Given the description of an element on the screen output the (x, y) to click on. 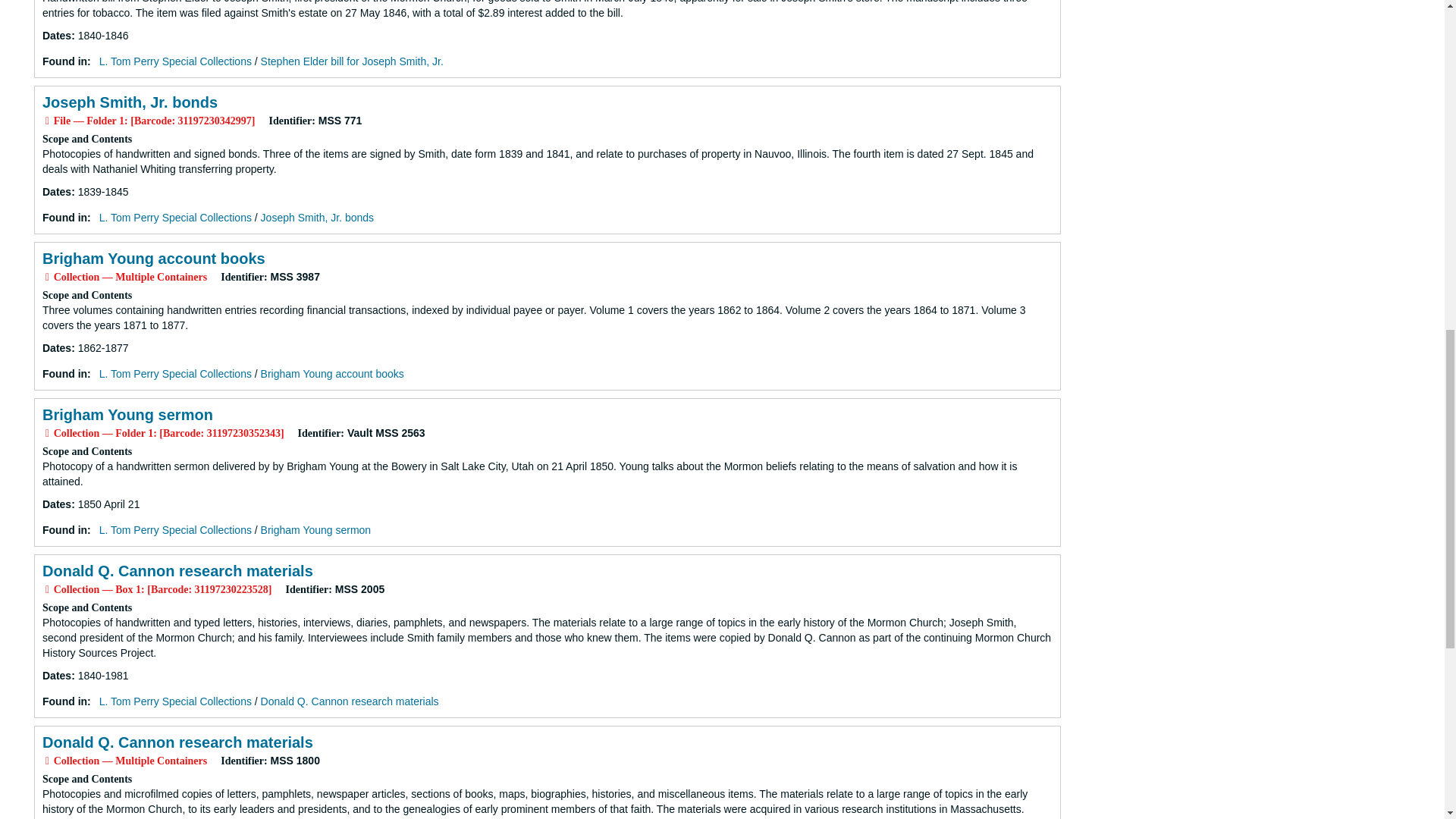
translation missing: en.dates (56, 347)
Brigham Young account books (332, 373)
Joseph Smith, Jr. bonds (317, 217)
L. Tom Perry Special Collections (175, 217)
Stephen Elder bill for Joseph Smith, Jr. (352, 61)
translation missing: en.dates (56, 191)
translation missing: en.dates (56, 503)
Joseph Smith, Jr. bonds (129, 102)
translation missing: en.dates (56, 675)
Brigham Young sermon (315, 530)
Brigham Young sermon (127, 414)
L. Tom Perry Special Collections (175, 530)
L. Tom Perry Special Collections (175, 373)
translation missing: en.dates (56, 35)
L. Tom Perry Special Collections (175, 61)
